Given the description of an element on the screen output the (x, y) to click on. 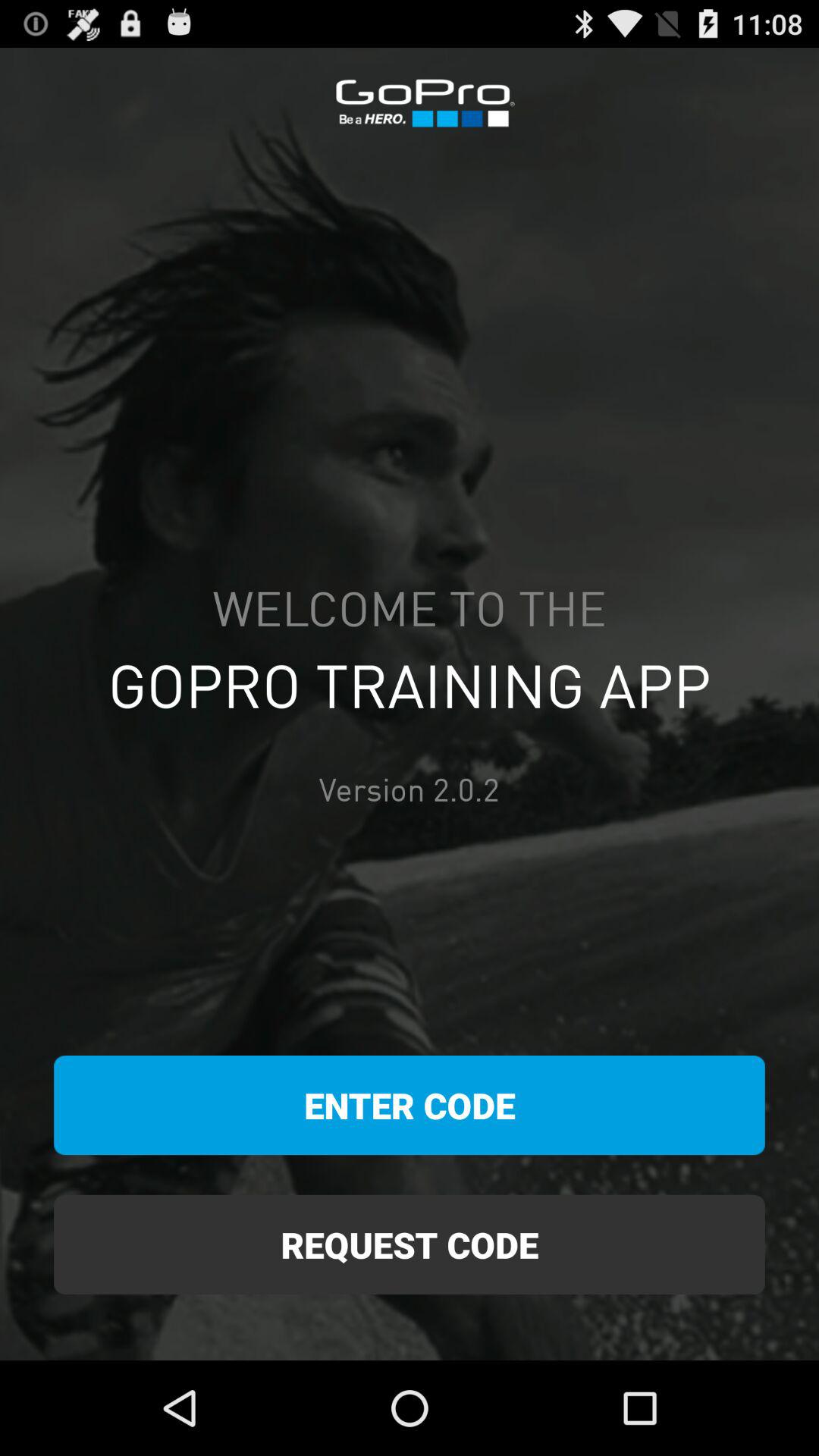
launch enter code button (409, 1105)
